Given the description of an element on the screen output the (x, y) to click on. 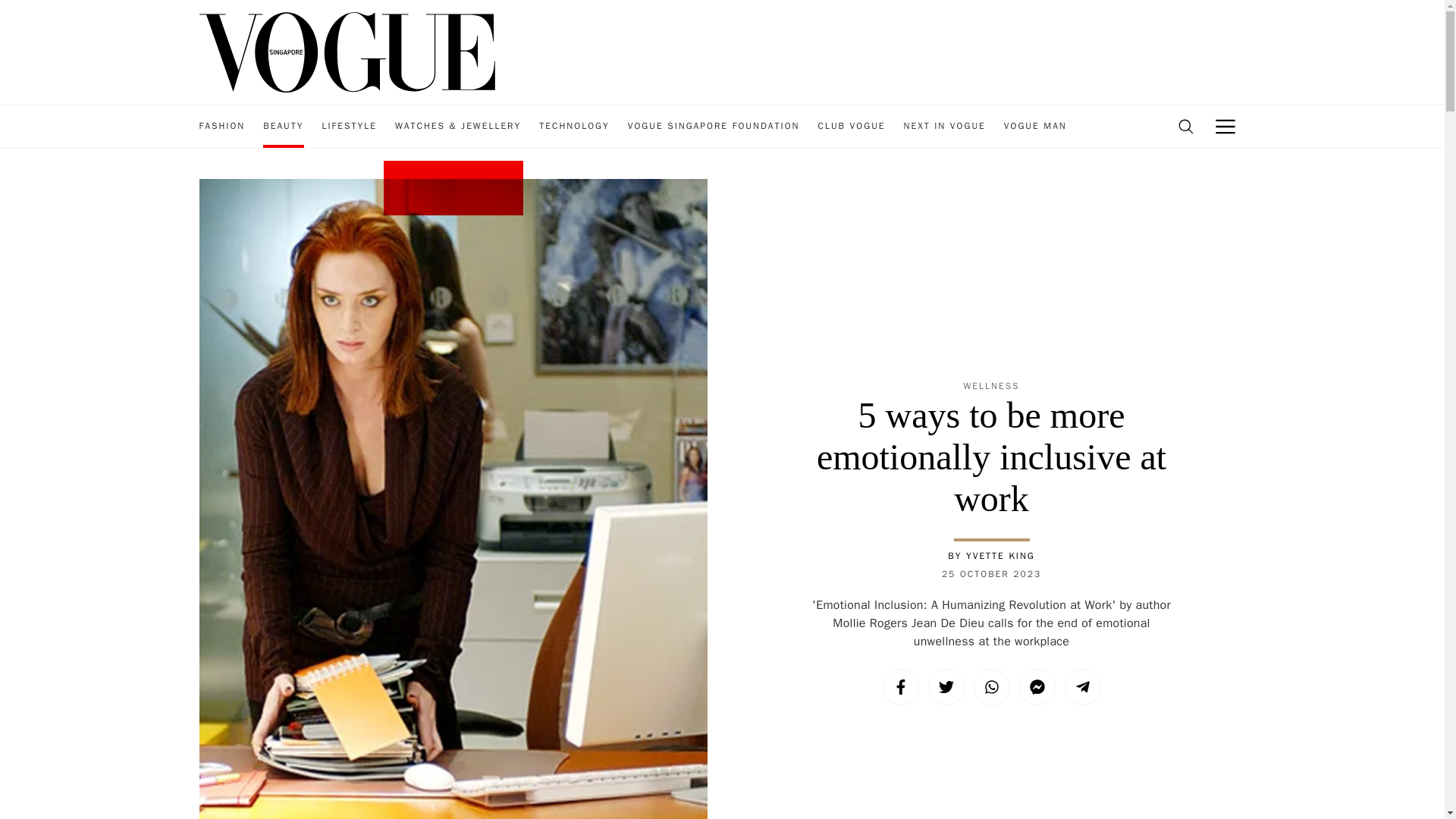
Open Search (1185, 126)
FASHION (221, 126)
Twitter (945, 687)
Facebook Messender (1037, 687)
Open Menu (1224, 126)
LIFESTYLE (348, 126)
Vogue Singapore (346, 51)
TECHNOLOGY (573, 126)
VOGUE MAN (1035, 126)
CLUB VOGUE (850, 126)
